Given the description of an element on the screen output the (x, y) to click on. 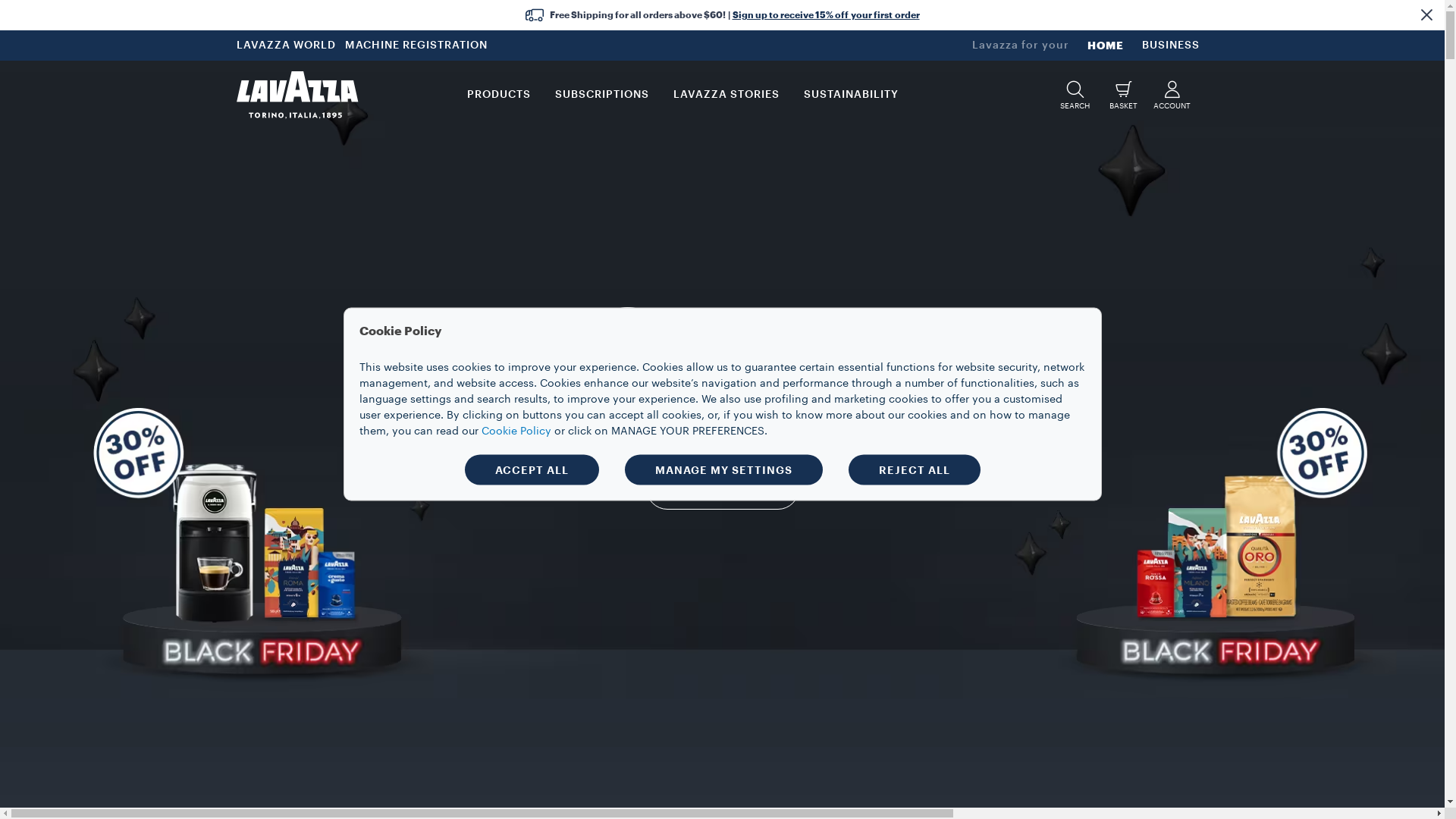
MANAGE MY SETTINGS Element type: text (723, 469)
HOME Element type: text (1105, 45)
SUSTAINABILITY Element type: text (850, 94)
SUBSCRIPTIONS Element type: text (602, 94)
LAVAZZA STORIES Element type: text (726, 94)
ACCEPT ALL Element type: text (531, 469)
BLACK FRIDAY Element type: text (721, 336)
REJECT ALL Element type: text (913, 469)
ACCOUNT Element type: text (1172, 94)
PRODUCTS Element type: text (498, 94)
MACHINE REGISTRATION Element type: text (417, 45)
Sign up to receive 15% off your first order Element type: text (825, 14)
SEARCH Element type: text (1075, 94)
DISCOVER MORE Element type: text (721, 488)
BASKET Element type: text (1123, 94)
LAVAZZA WORLD Element type: text (288, 45)
BUSINESS Element type: text (1170, 45)
Cookie Policy Element type: text (515, 430)
